Given the description of an element on the screen output the (x, y) to click on. 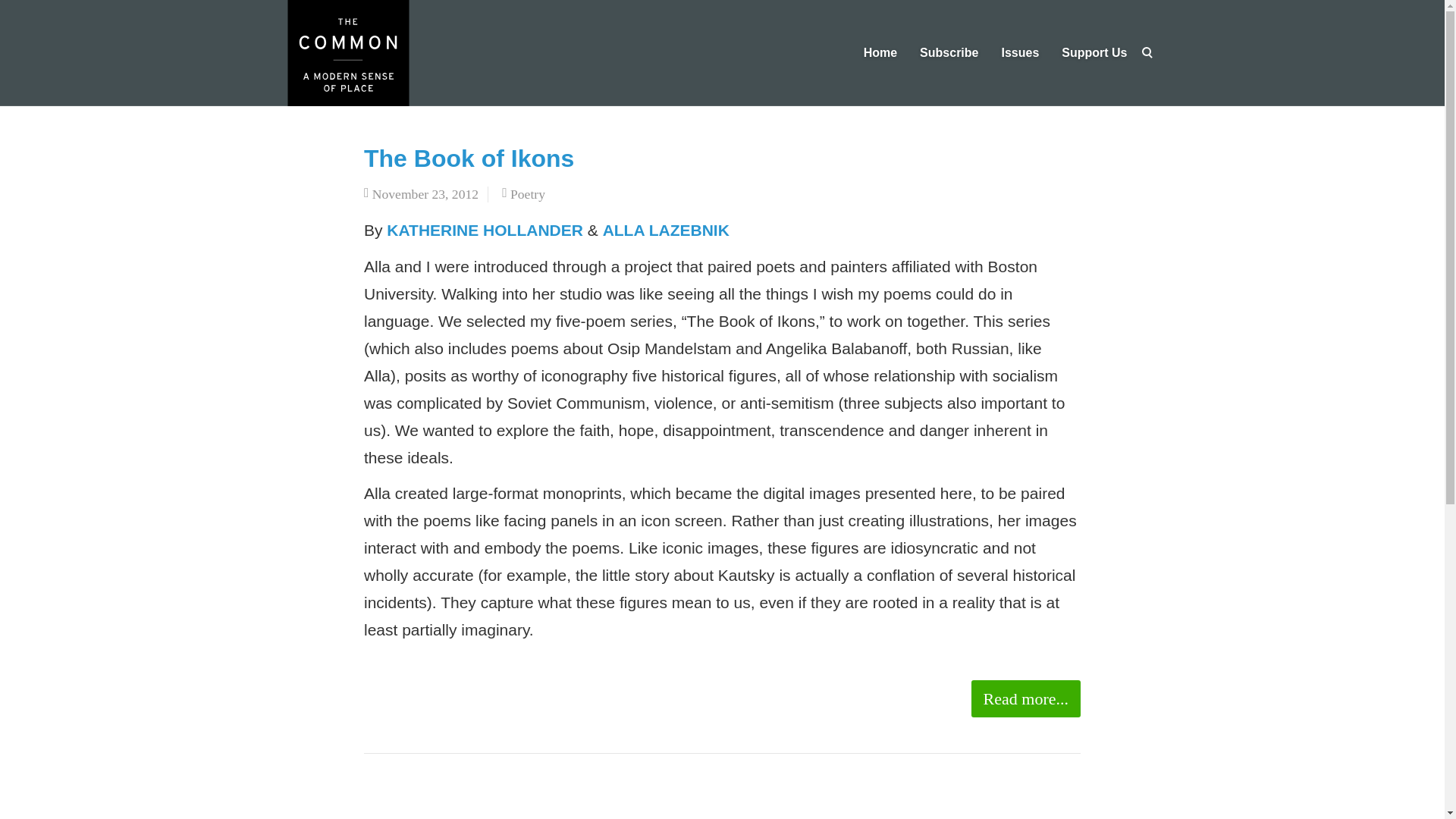
Poetry (527, 193)
ALLA LAZEBNIK (665, 230)
The Book of Ikons (468, 157)
KATHERINE HOLLANDER (485, 230)
Read more... (1025, 699)
Permalink to The Book of Ikons (468, 157)
